Given the description of an element on the screen output the (x, y) to click on. 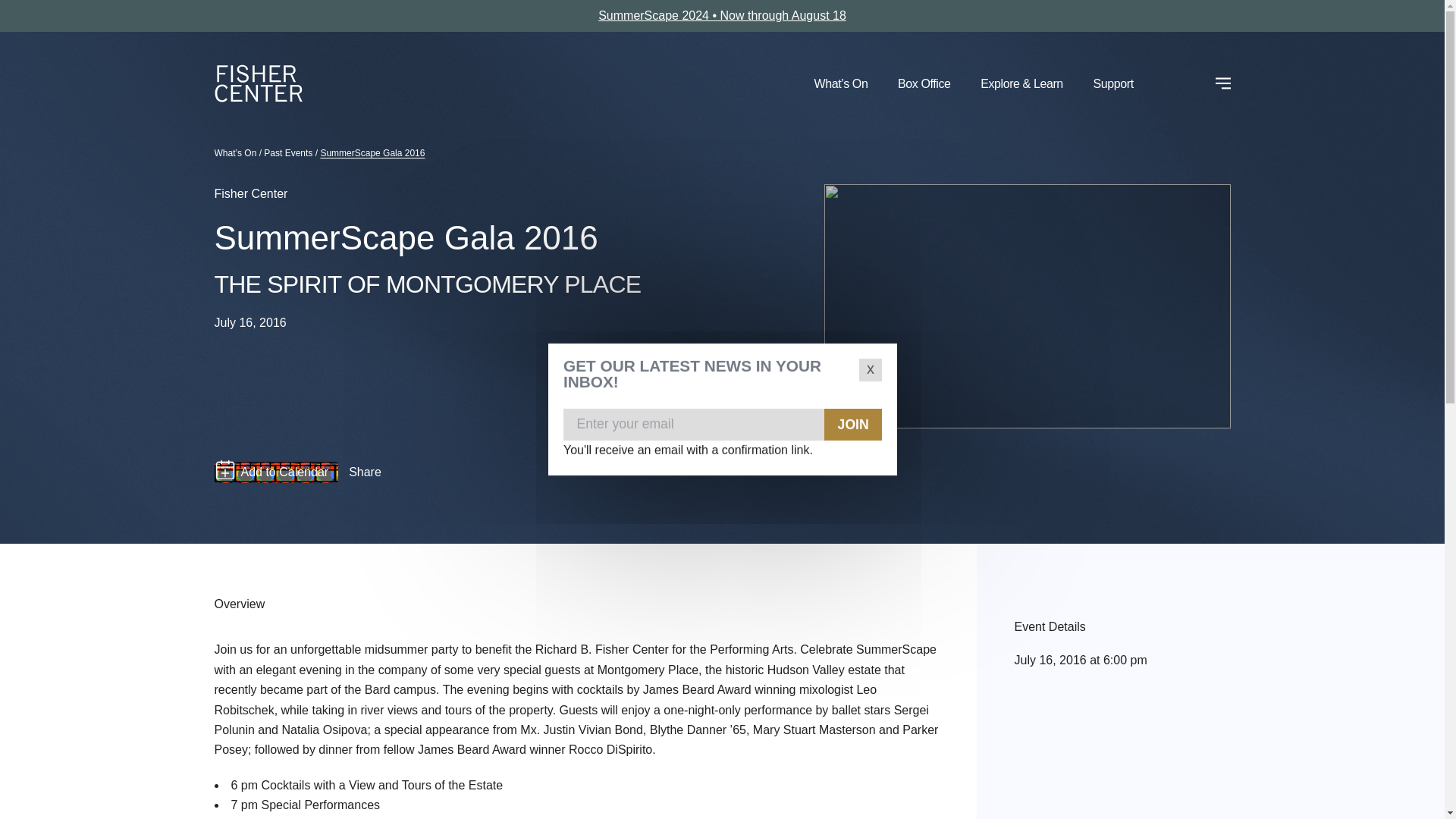
Box Office (923, 83)
Submit (1206, 80)
Support (1113, 83)
Past Events (288, 152)
Overview (239, 604)
View your Fisher Center Shopping Cart (1192, 83)
Search placeholder (1163, 83)
Search placeholder (1163, 83)
Fisher Center at Bard (272, 82)
